Given the description of an element on the screen output the (x, y) to click on. 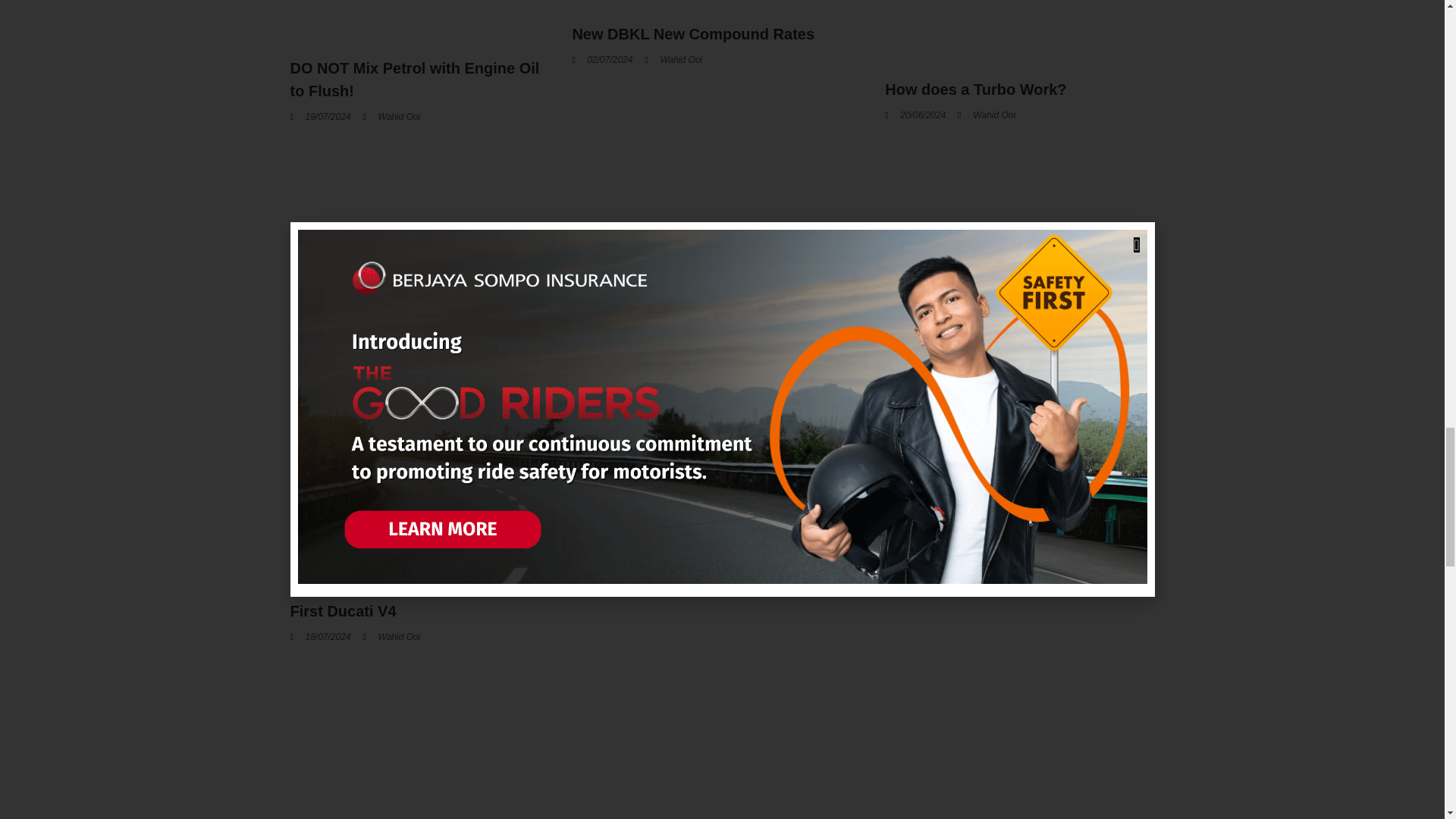
New DBKL New Compound Rates (692, 33)
DO NOT Mix Petrol with Engine Oil to Flush! (413, 79)
Wahid Ooi (673, 59)
2024 Suzuki Burgman Street 125EX Test and Review (416, 339)
Wahid Ooi (391, 116)
